Given the description of an element on the screen output the (x, y) to click on. 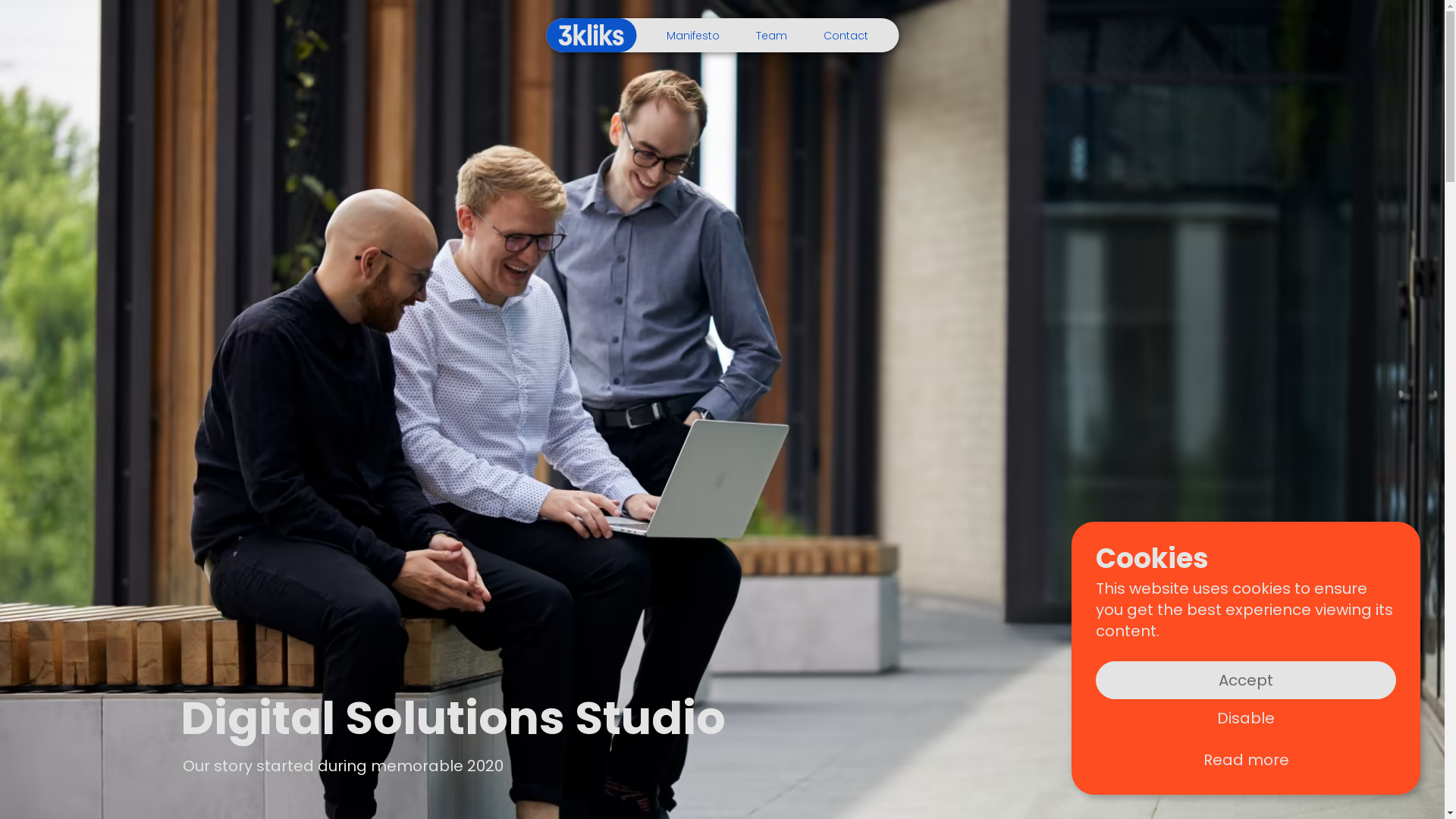
Linktree Element type: text (623, 662)
Disable Element type: text (1245, 718)
Accept Element type: text (1245, 680)
Instagram Element type: text (623, 644)
Read more Element type: text (1245, 759)
